Given the description of an element on the screen output the (x, y) to click on. 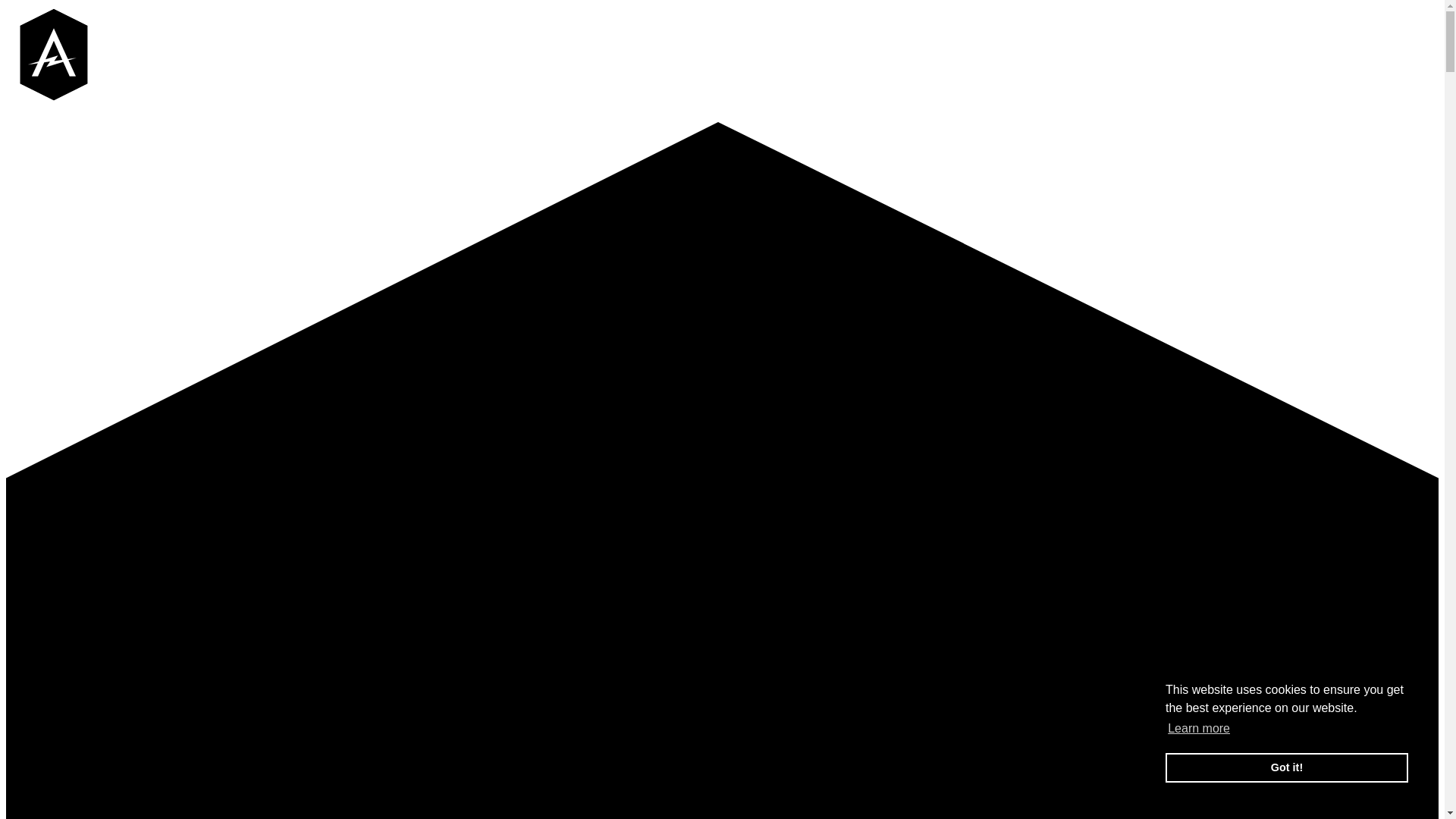
Got it! Element type: text (1286, 767)
Learn more Element type: text (1198, 728)
